Given the description of an element on the screen output the (x, y) to click on. 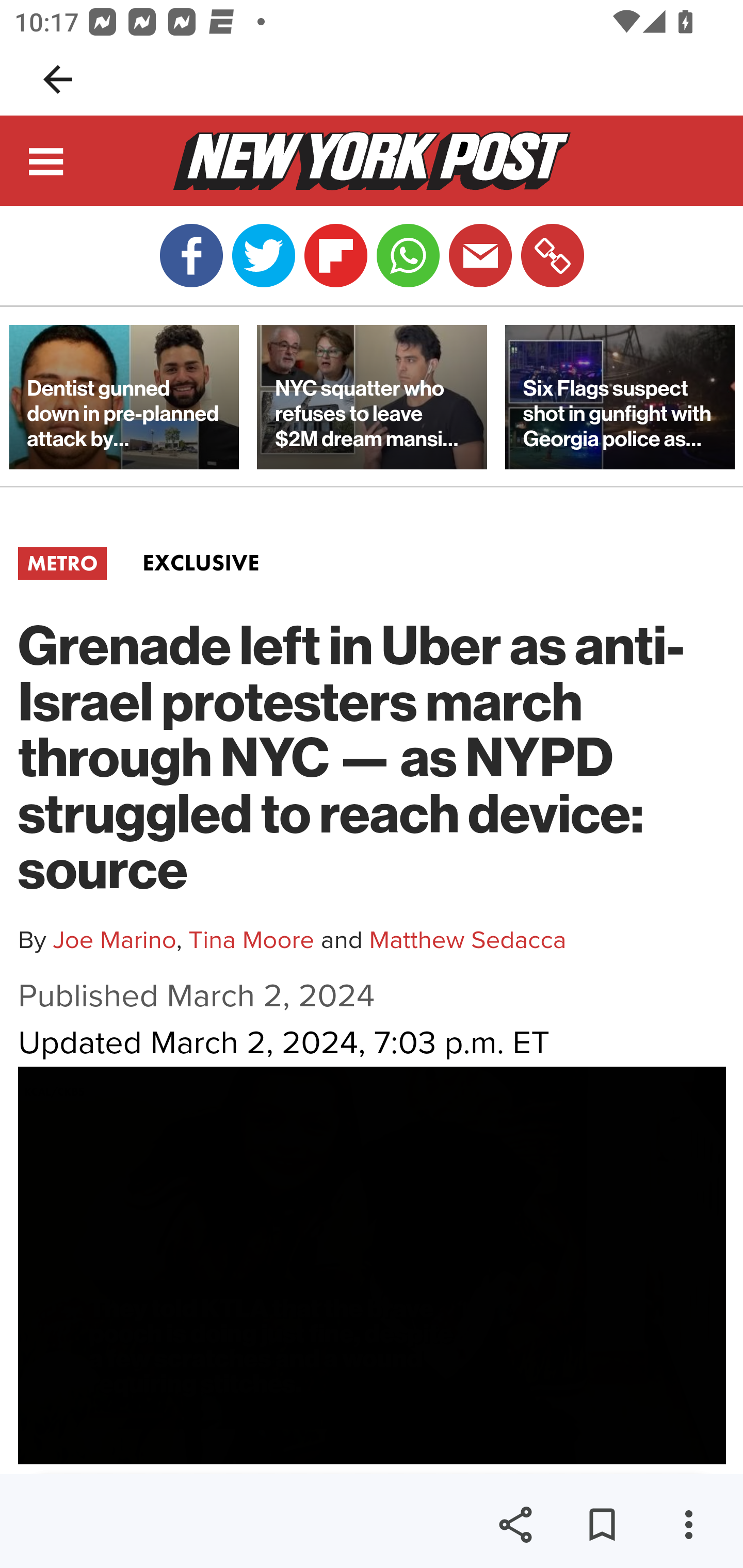
Navigate up (57, 79)
nypost (371, 160)
navigation menu (46, 164)
Click to share on Facebook (191, 256)
Click to share on Twitter (263, 256)
Click to share on Flipboard (335, 256)
Click to share on Whatsapp (407, 256)
Click to email a link to a friend (480, 256)
Click to copy URL (552, 256)
METRO (61, 562)
Joe Marino (114, 939)
Tina Moore (251, 939)
Matthew Sedacca (467, 939)
Share (514, 1524)
Save for later (601, 1524)
More options (688, 1524)
